Given the description of an element on the screen output the (x, y) to click on. 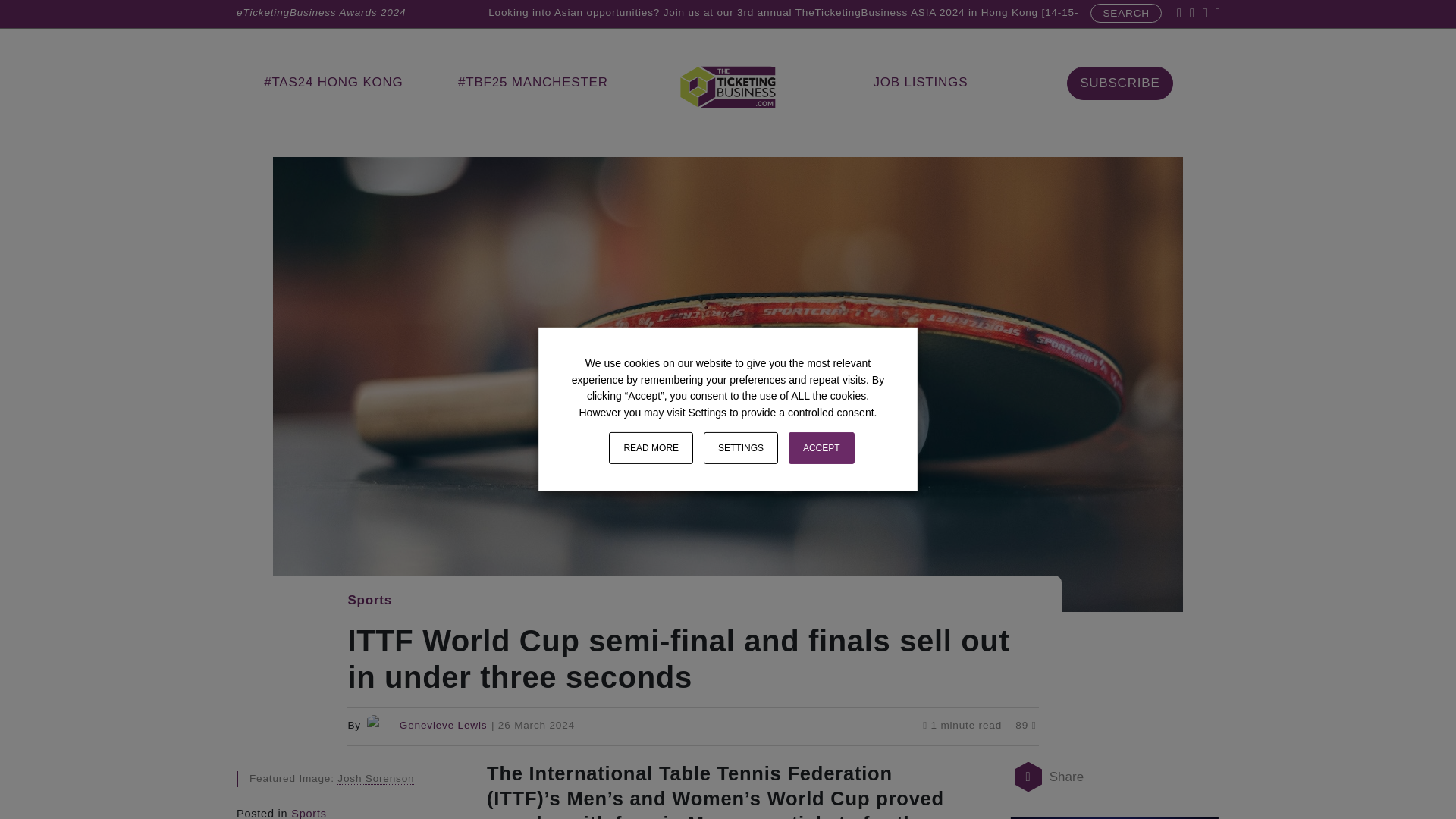
Newsletter Sign-up (1119, 82)
Job Listings (920, 82)
